Given the description of an element on the screen output the (x, y) to click on. 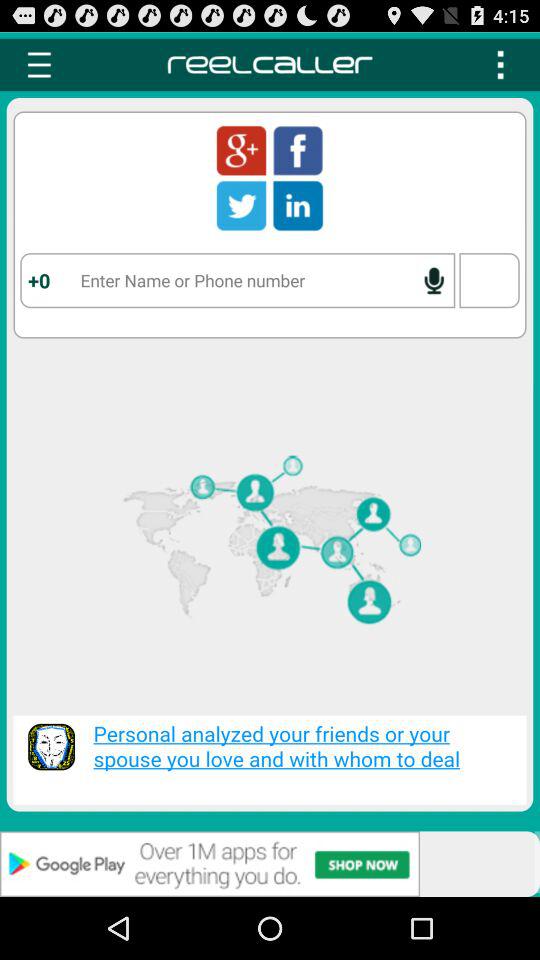
go to in (297, 205)
